Given the description of an element on the screen output the (x, y) to click on. 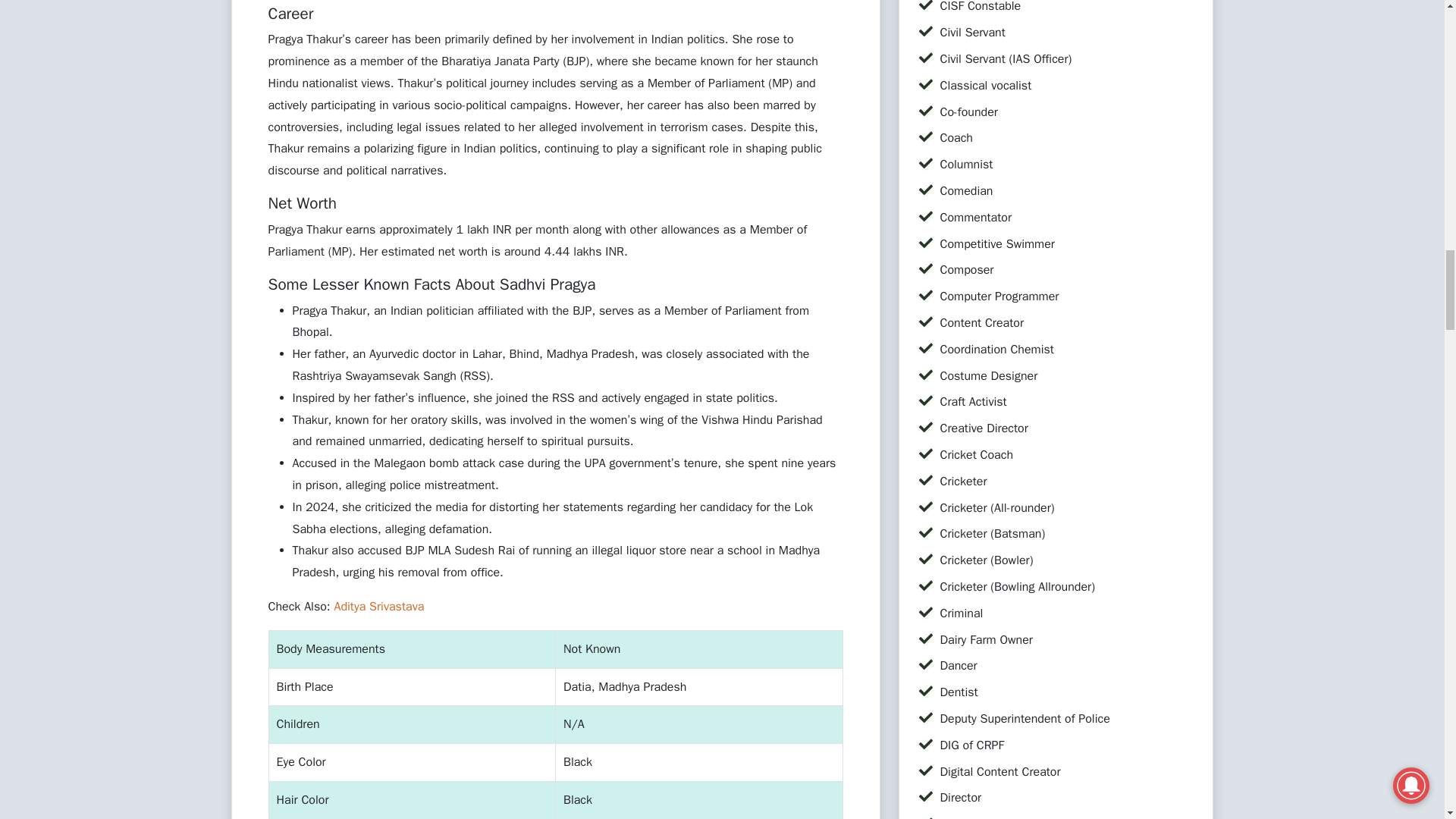
Aditya Srivastava (378, 606)
